Given the description of an element on the screen output the (x, y) to click on. 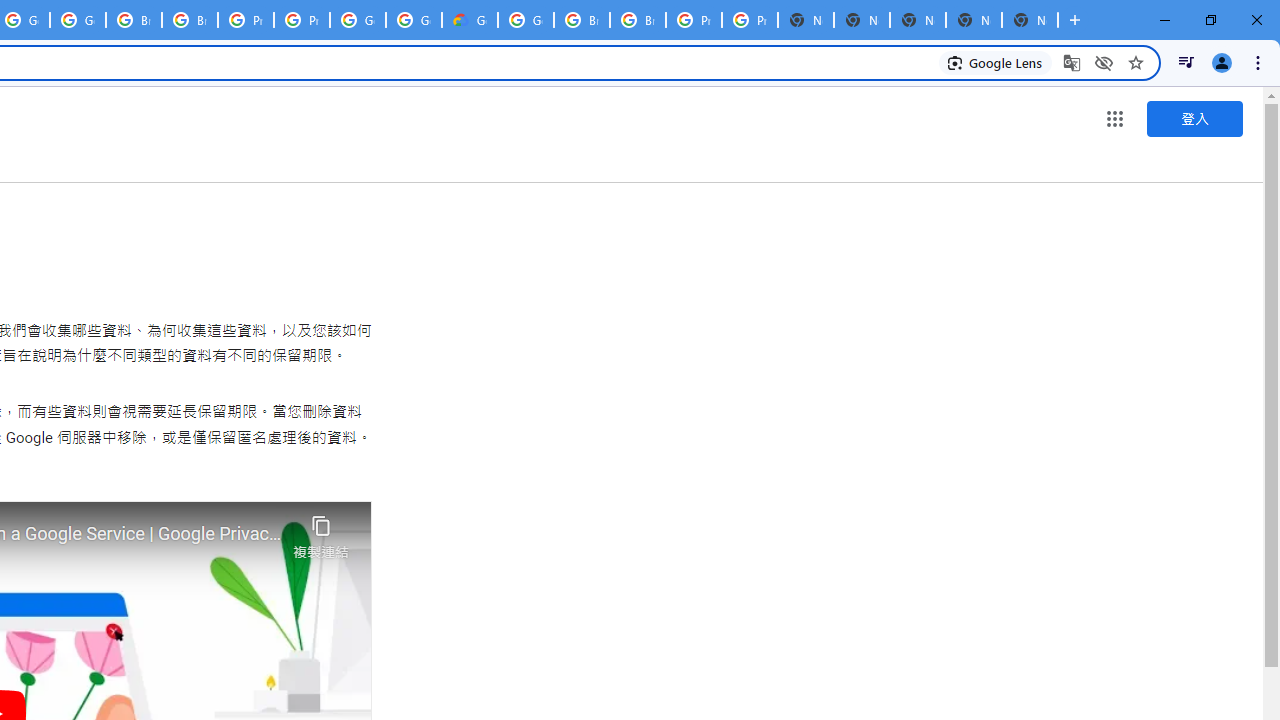
Google Cloud Estimate Summary (469, 20)
Minimize (1165, 20)
Browse Chrome as a guest - Computer - Google Chrome Help (637, 20)
You (1221, 62)
Chrome (1260, 62)
Search with Google Lens (995, 62)
Bookmark this tab (1135, 62)
Google Cloud Platform (358, 20)
New Tab (1075, 20)
Close (1256, 20)
Translate this page (1071, 62)
Control your music, videos, and more (1185, 62)
